Given the description of an element on the screen output the (x, y) to click on. 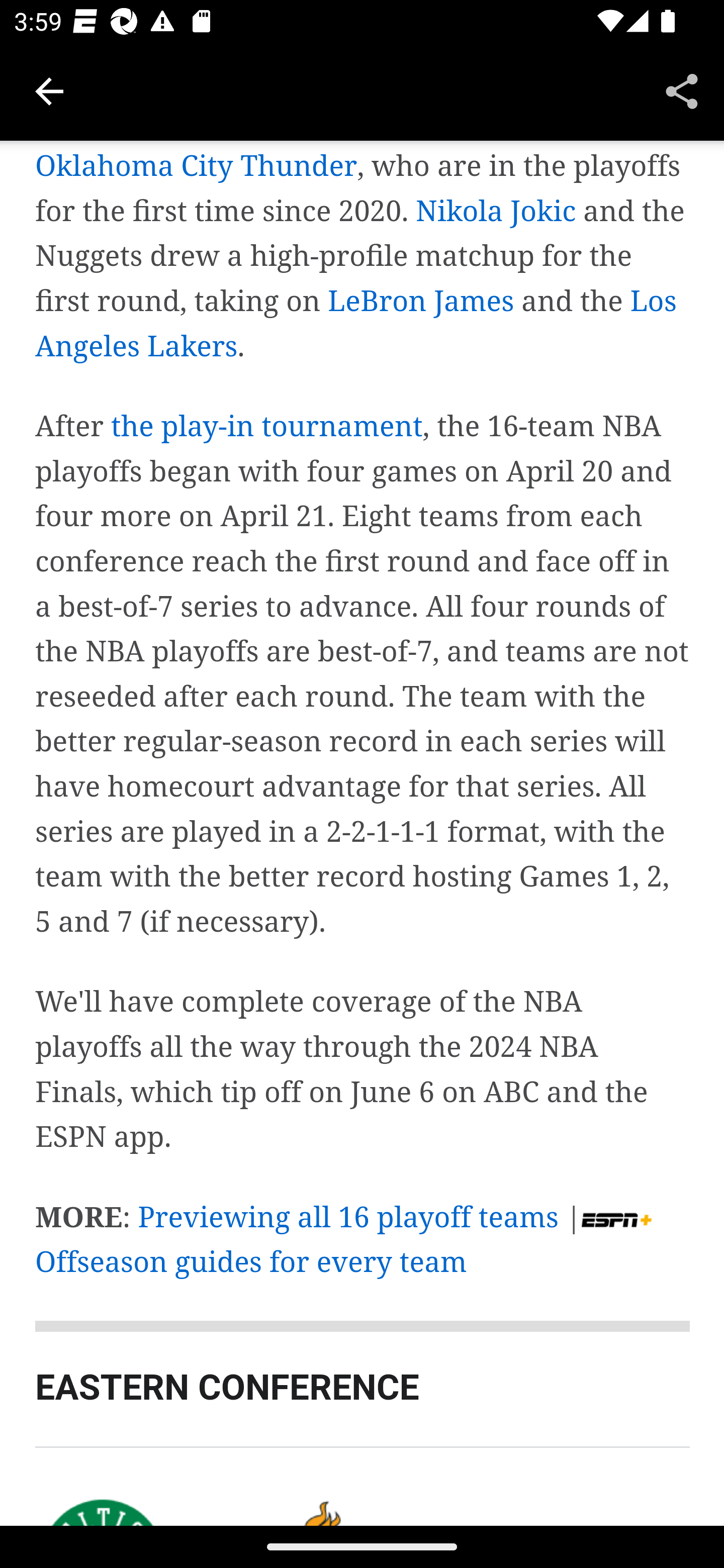
Navigate up (49, 91)
Share (681, 90)
